Given the description of an element on the screen output the (x, y) to click on. 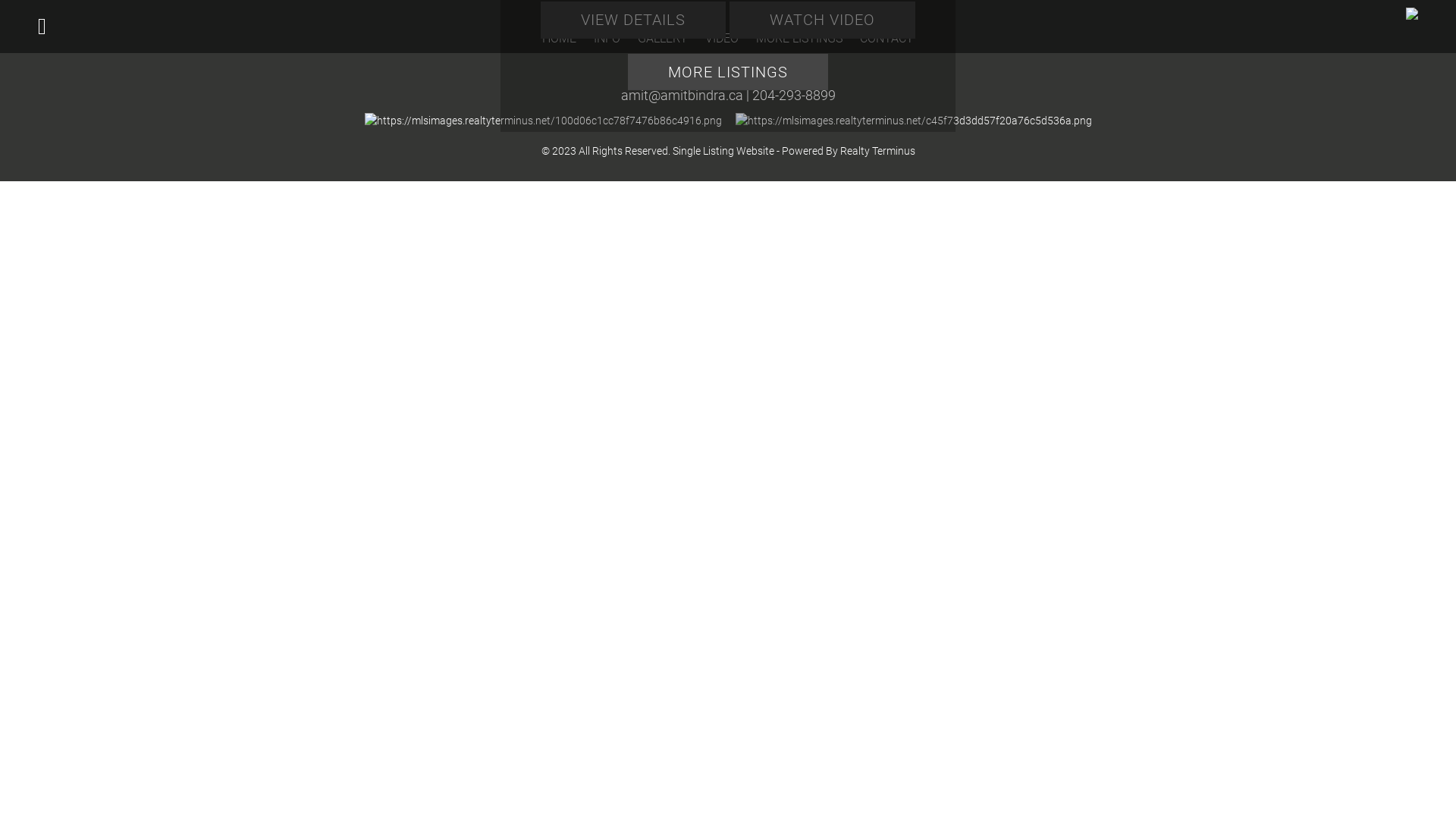
MORE LISTINGS Element type: text (727, 71)
VIEW DETAILS Element type: text (632, 19)
CONTACT Element type: text (886, 38)
amit@amitbindra.ca Element type: text (681, 95)
INFO Element type: text (606, 38)
GALLERY Element type: text (662, 38)
HOME Element type: text (559, 38)
Realty Terminus Element type: text (877, 150)
MORE LISTINGS Element type: text (799, 38)
VIDEO Element type: text (721, 38)
204-293-8899 Element type: text (793, 95)
WATCH VIDEO Element type: text (822, 19)
